Given the description of an element on the screen output the (x, y) to click on. 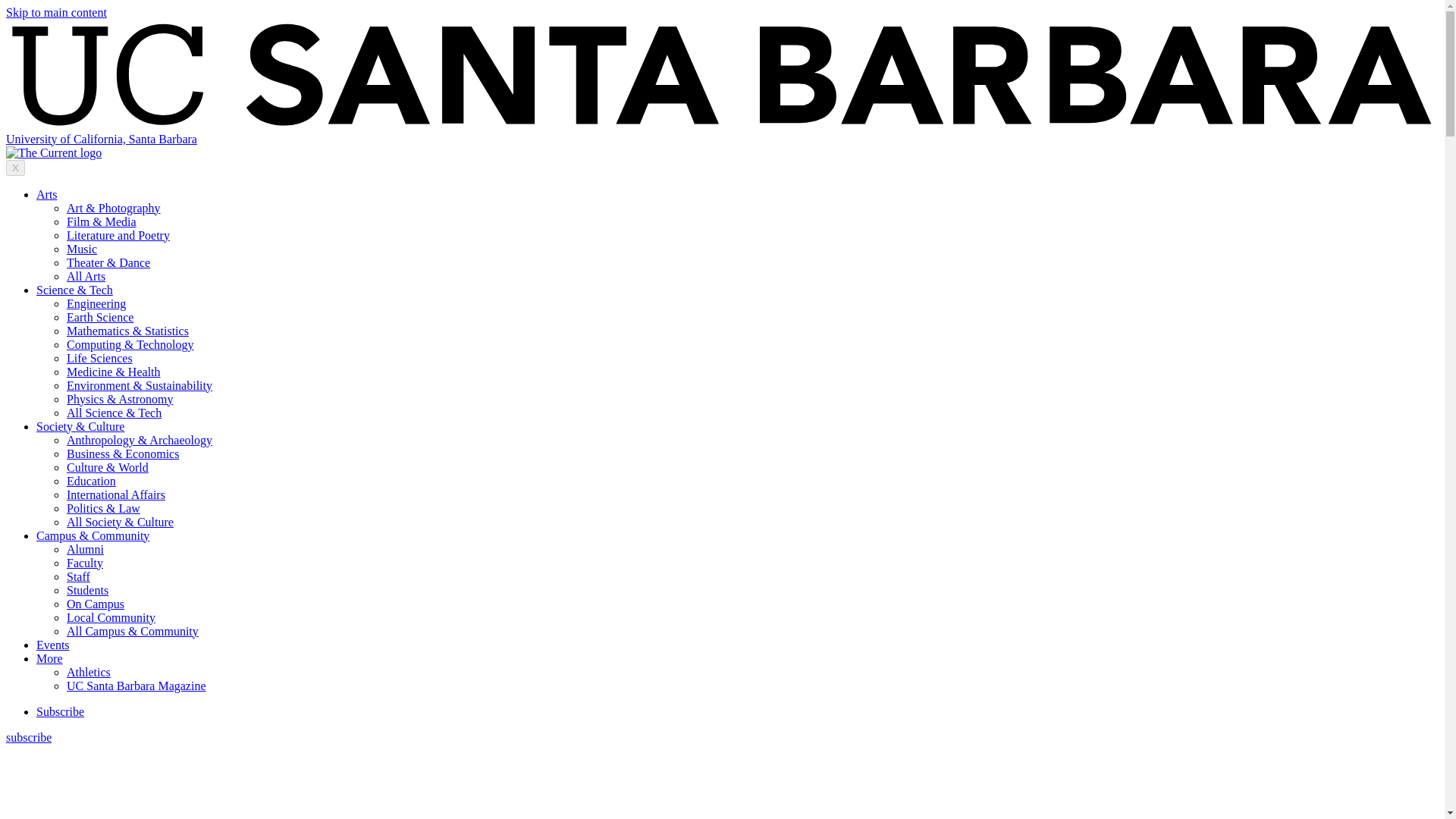
All Arts (85, 276)
Faculty (84, 562)
Literature and Poetry (118, 235)
Skip to main content (55, 11)
Arts (47, 194)
Music (81, 248)
Students (86, 590)
Life Sciences (99, 358)
X (14, 167)
International Affairs (115, 494)
More (49, 658)
Local Community (110, 617)
Staff (78, 576)
Alumni (84, 549)
Events (52, 644)
